Given the description of an element on the screen output the (x, y) to click on. 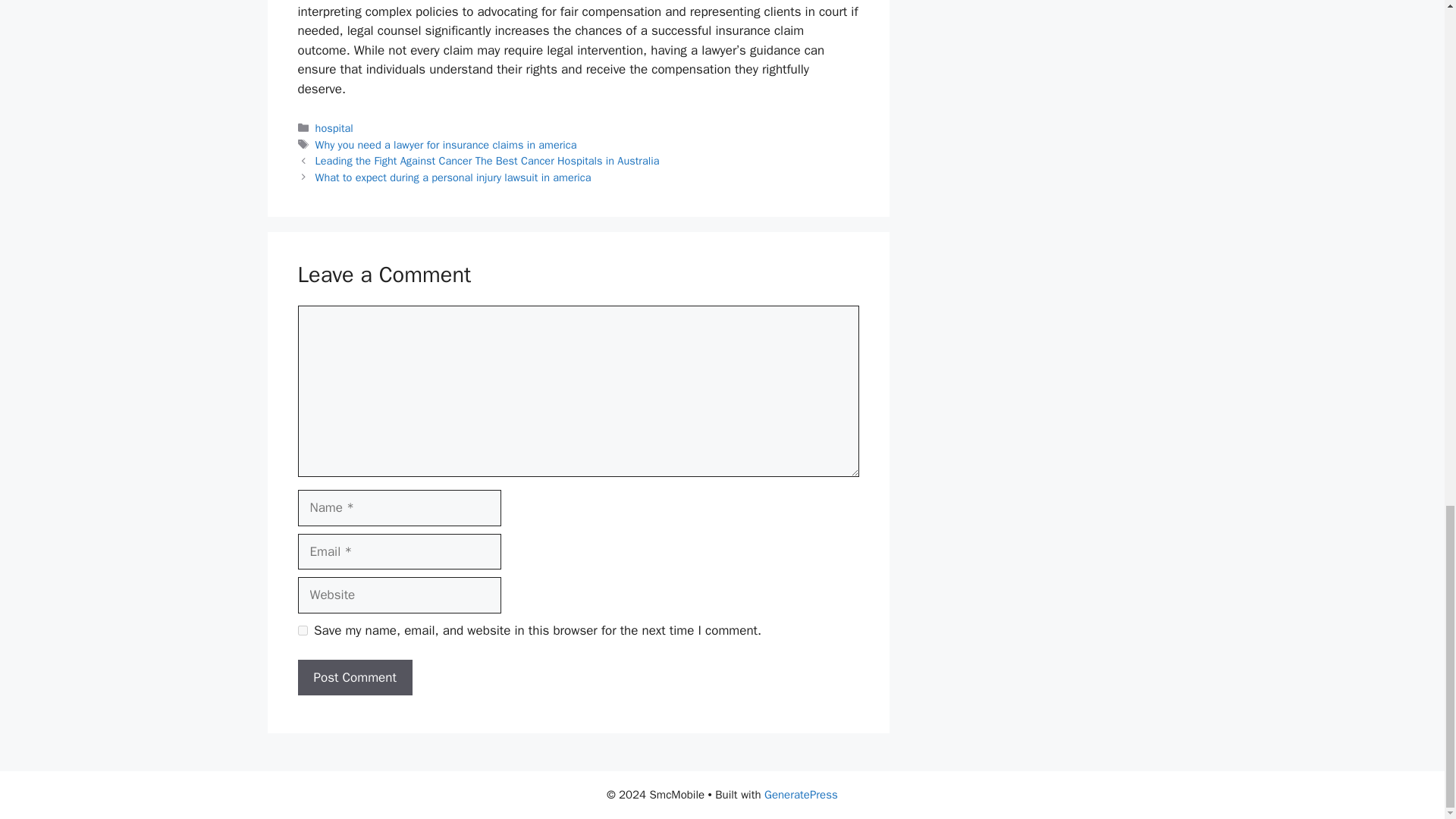
hospital (334, 128)
GeneratePress (801, 794)
What to expect during a personal injury lawsuit in america (453, 177)
Why you need a lawyer for insurance claims in america (445, 144)
Post Comment (354, 678)
Post Comment (354, 678)
yes (302, 630)
